Given the description of an element on the screen output the (x, y) to click on. 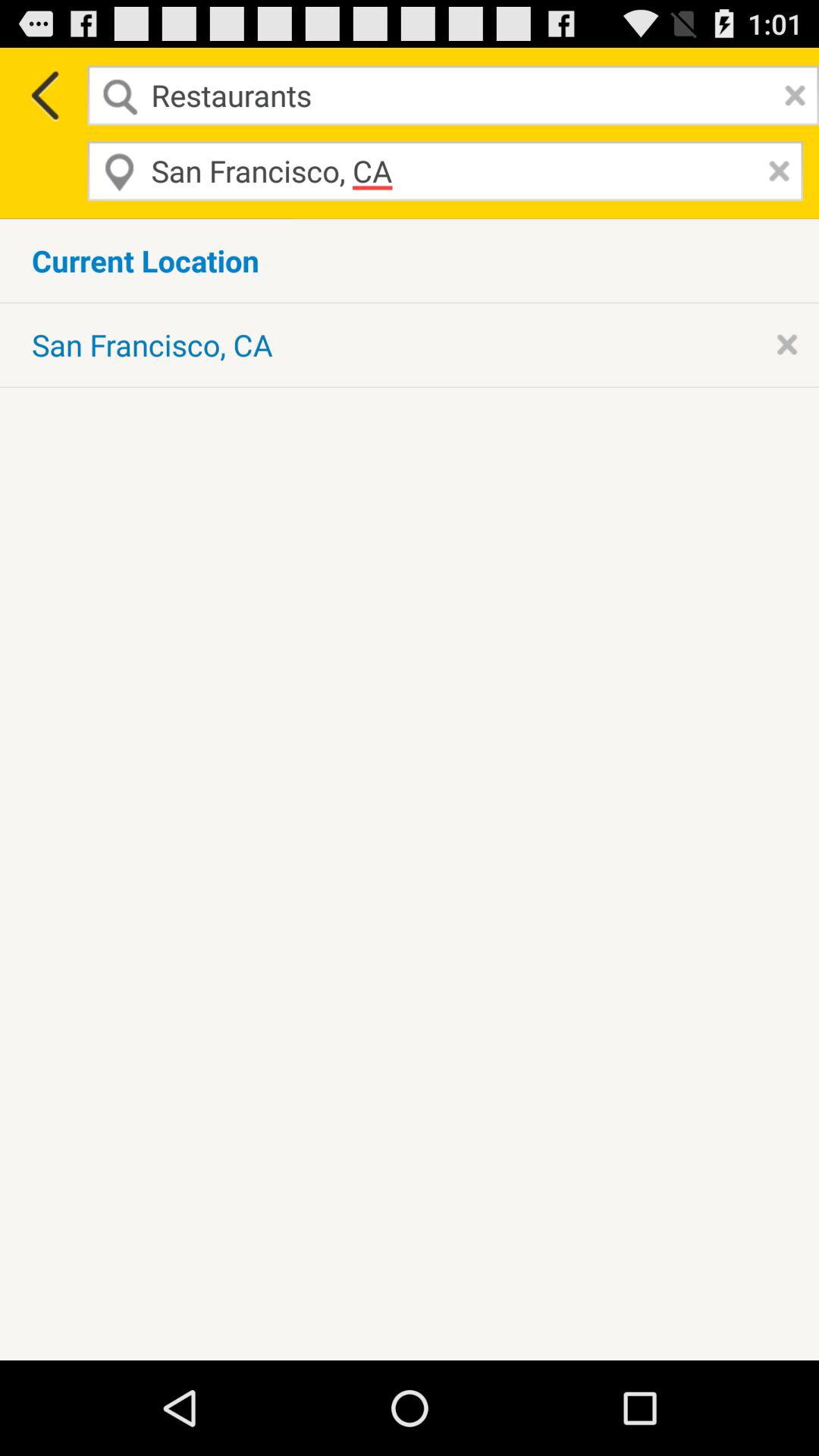
cancel search (791, 95)
